Given the description of an element on the screen output the (x, y) to click on. 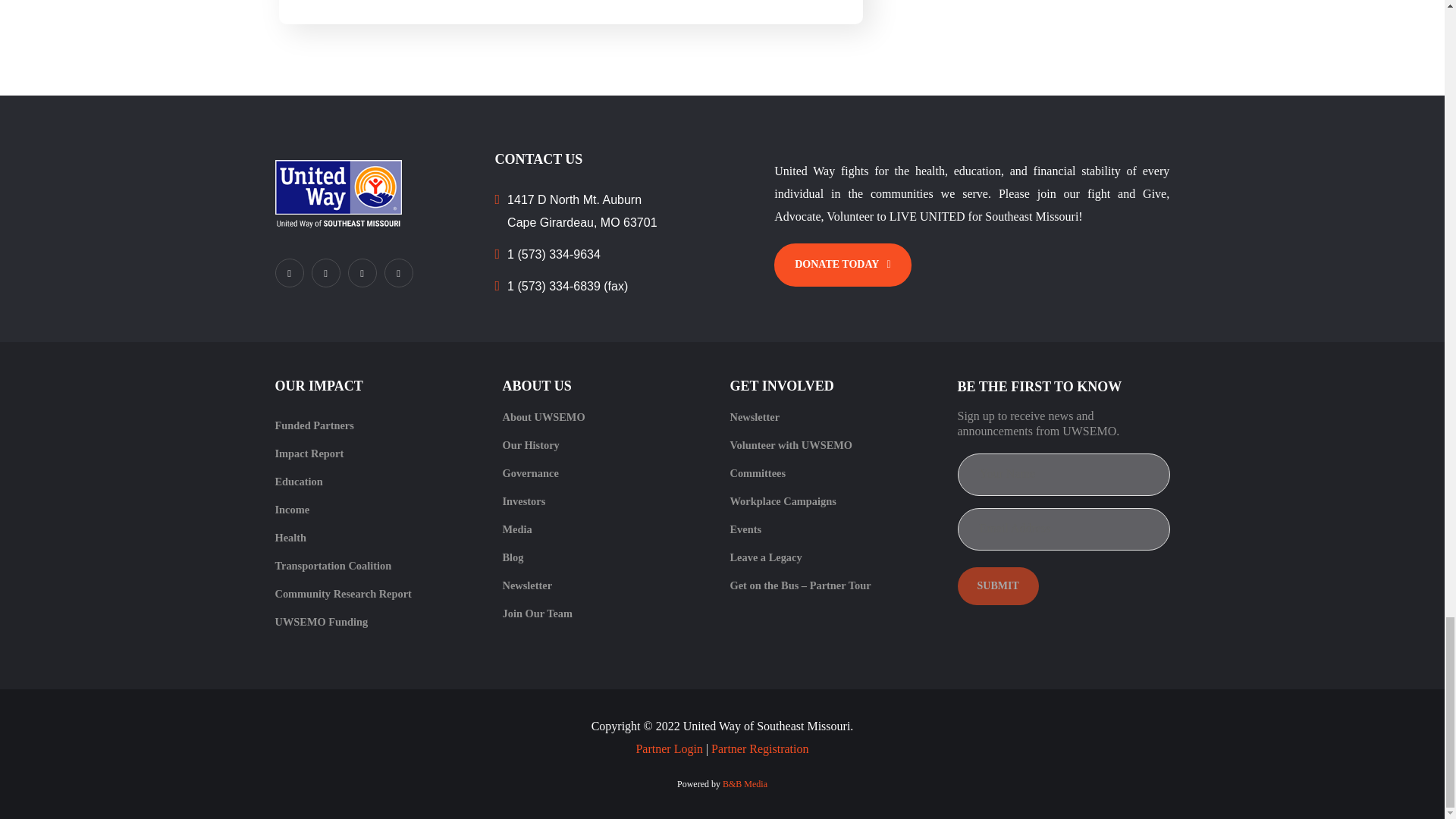
Facebook (288, 272)
Submit (997, 586)
